Given the description of an element on the screen output the (x, y) to click on. 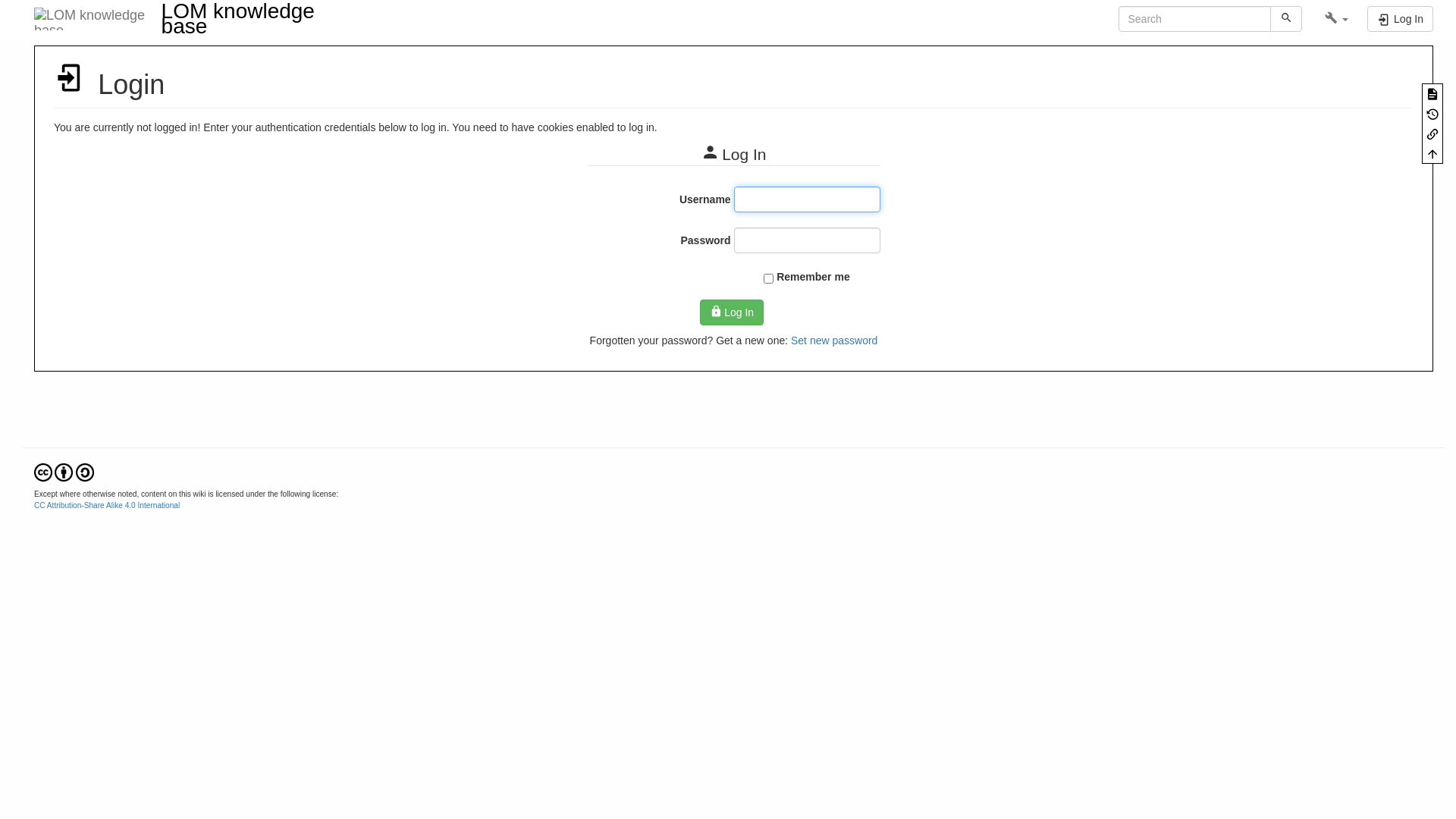
[F] Element type: hover (1193, 18)
Back to top [t] Element type: hover (1432, 153)
Search Element type: hover (1285, 18)
Old revisions [o] Element type: hover (1432, 112)
Show page [v] Element type: hover (1432, 93)
Backlinks Element type: hover (1432, 133)
CC Attribution-Share Alike 4.0 International Element type: hover (64, 471)
Set new password Element type: text (833, 340)
LOM knowledge base Element type: text (185, 18)
Log In Element type: text (731, 312)
CC Attribution-Share Alike 4.0 International Element type: text (106, 505)
Log In Element type: text (1400, 18)
